Given the description of an element on the screen output the (x, y) to click on. 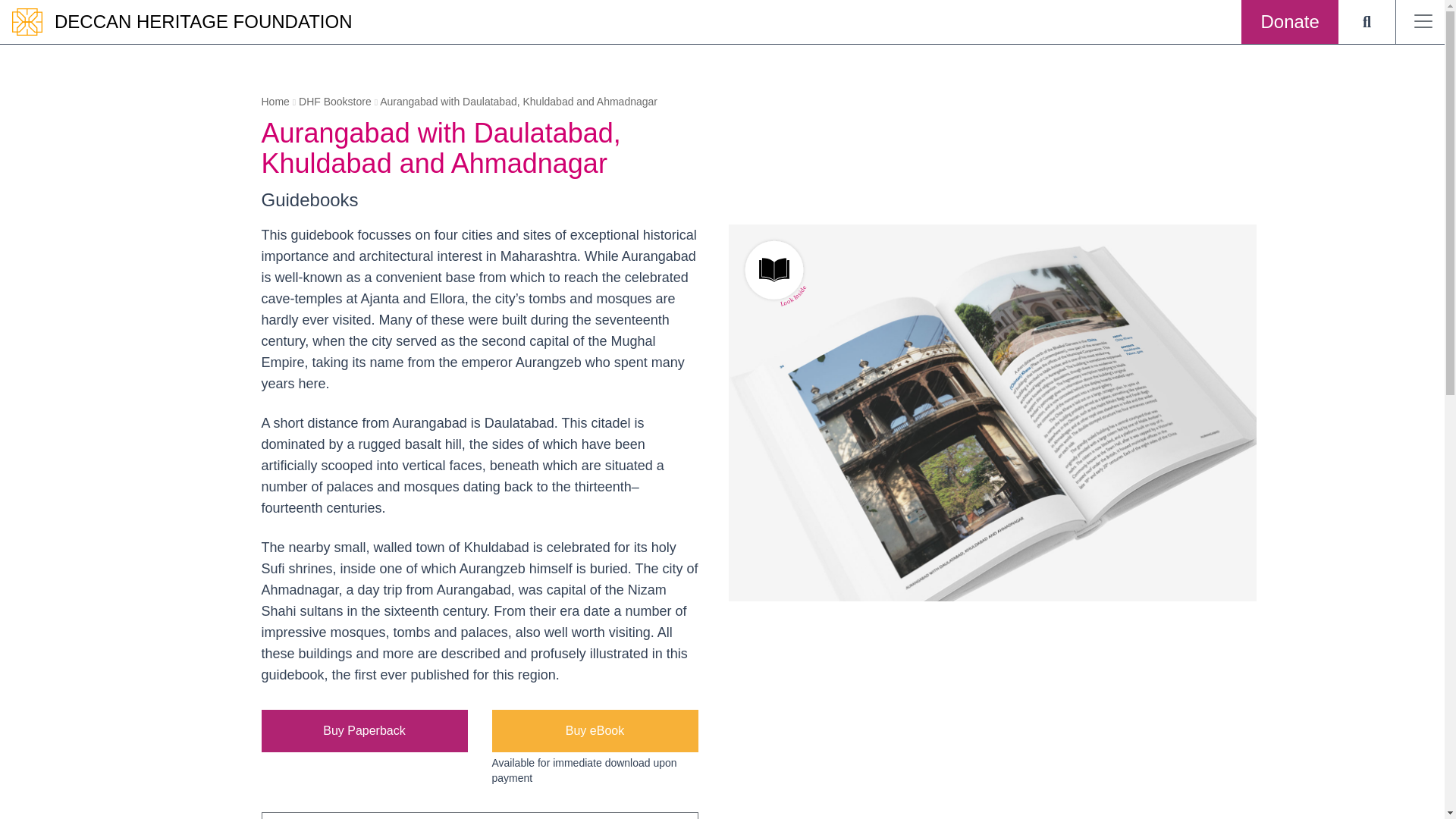
DHF Bookstore (334, 101)
DECCAN HERITAGE FOUNDATION (203, 21)
Donate (1289, 22)
Buy Paperback (363, 731)
Buy eBook (594, 731)
Home (274, 101)
